Given the description of an element on the screen output the (x, y) to click on. 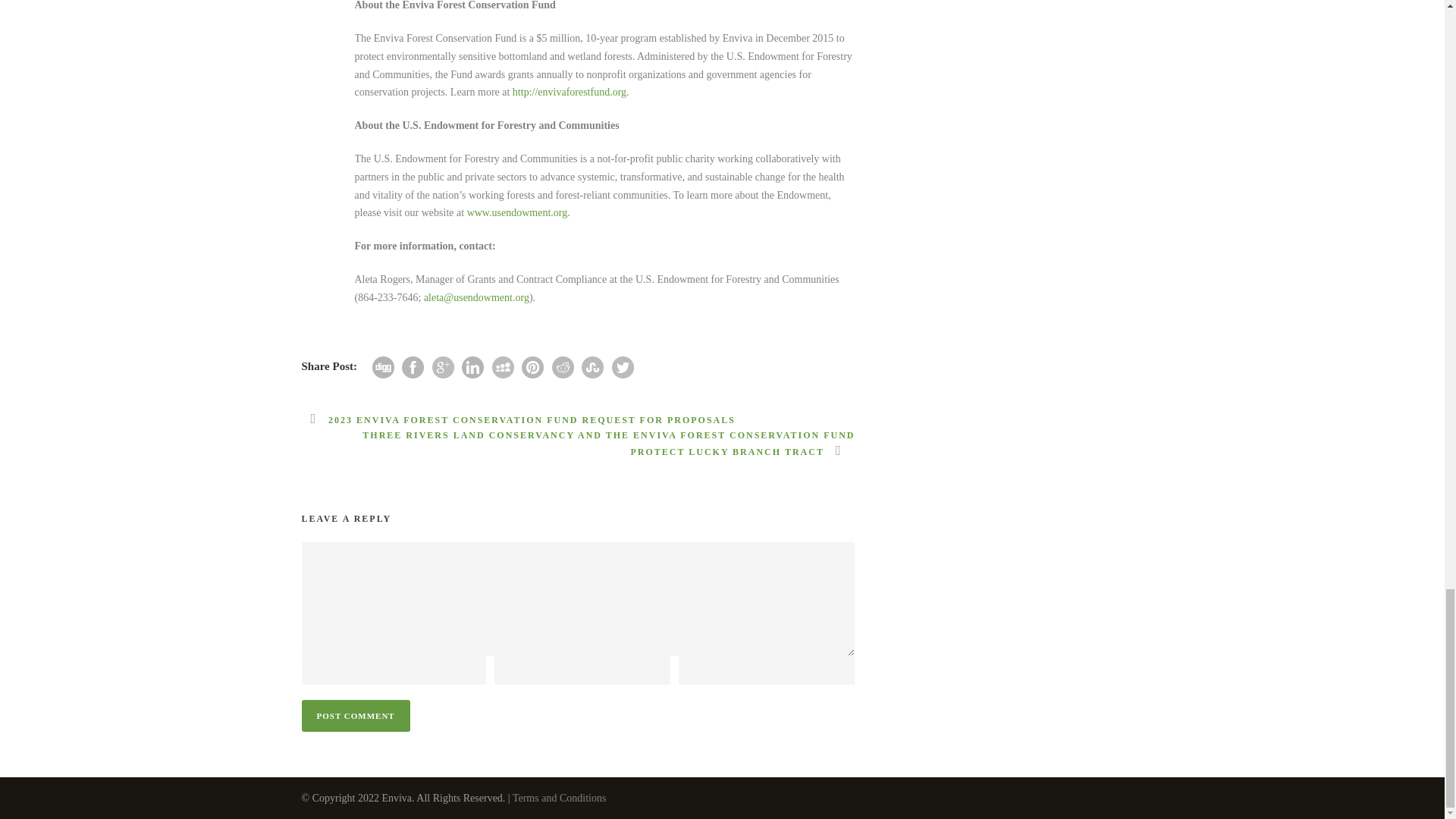
Post Comment (355, 716)
